Given the description of an element on the screen output the (x, y) to click on. 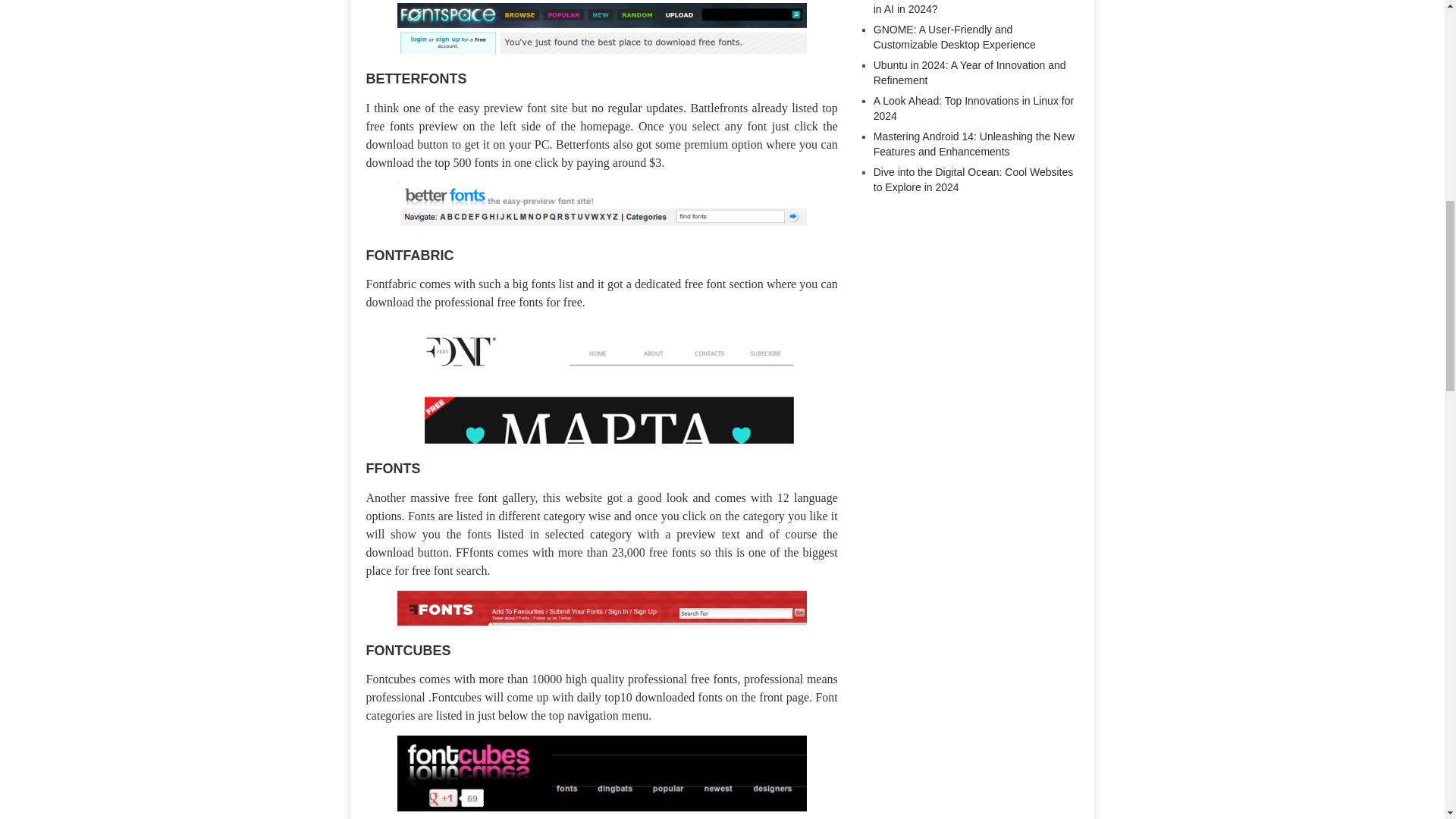
FFONTS (392, 466)
FONTFABRIC (408, 253)
BETTERFONTS (415, 76)
FONTCUBES (407, 648)
